Given the description of an element on the screen output the (x, y) to click on. 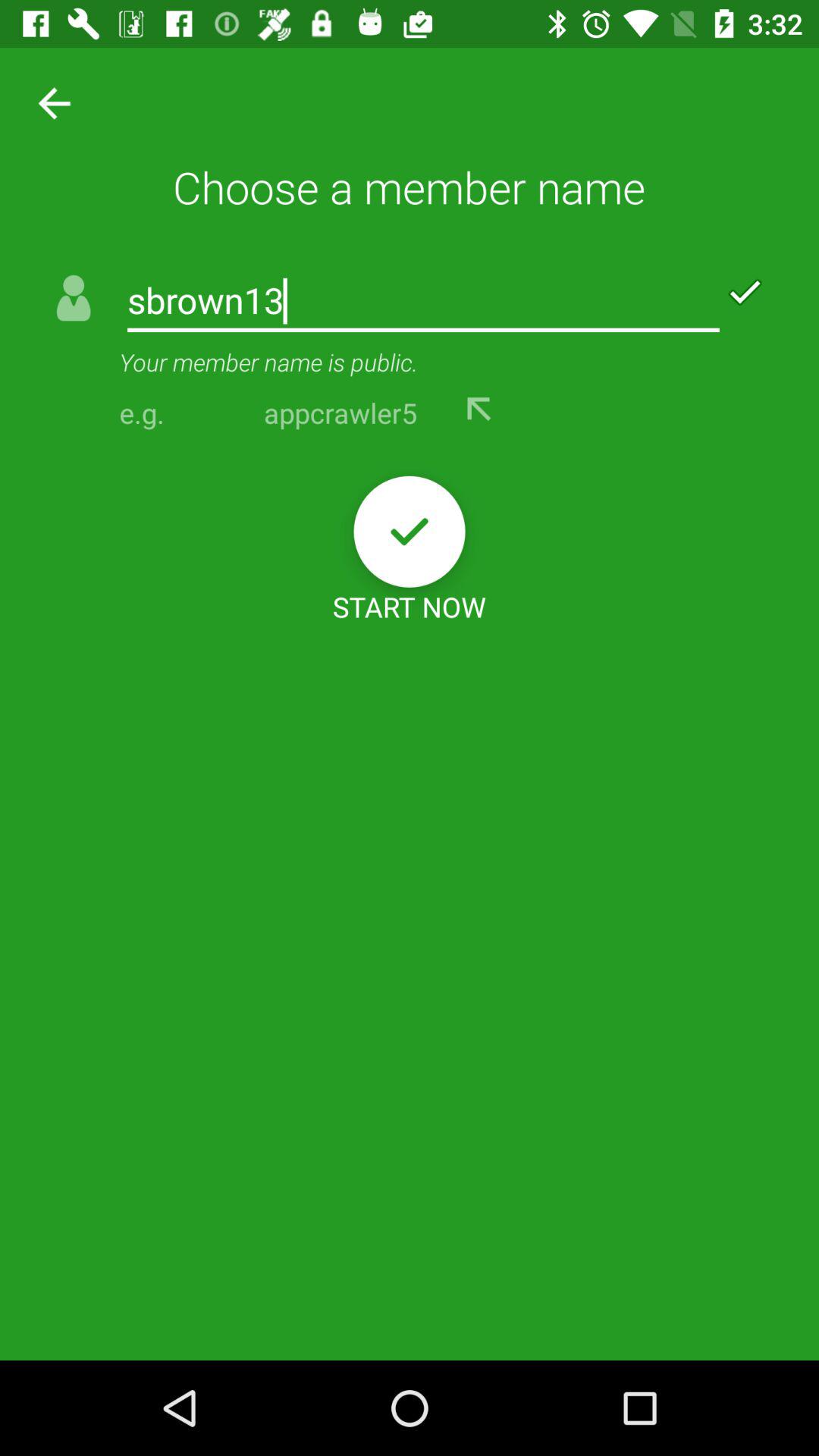
flip until sbrown13 icon (423, 301)
